Given the description of an element on the screen output the (x, y) to click on. 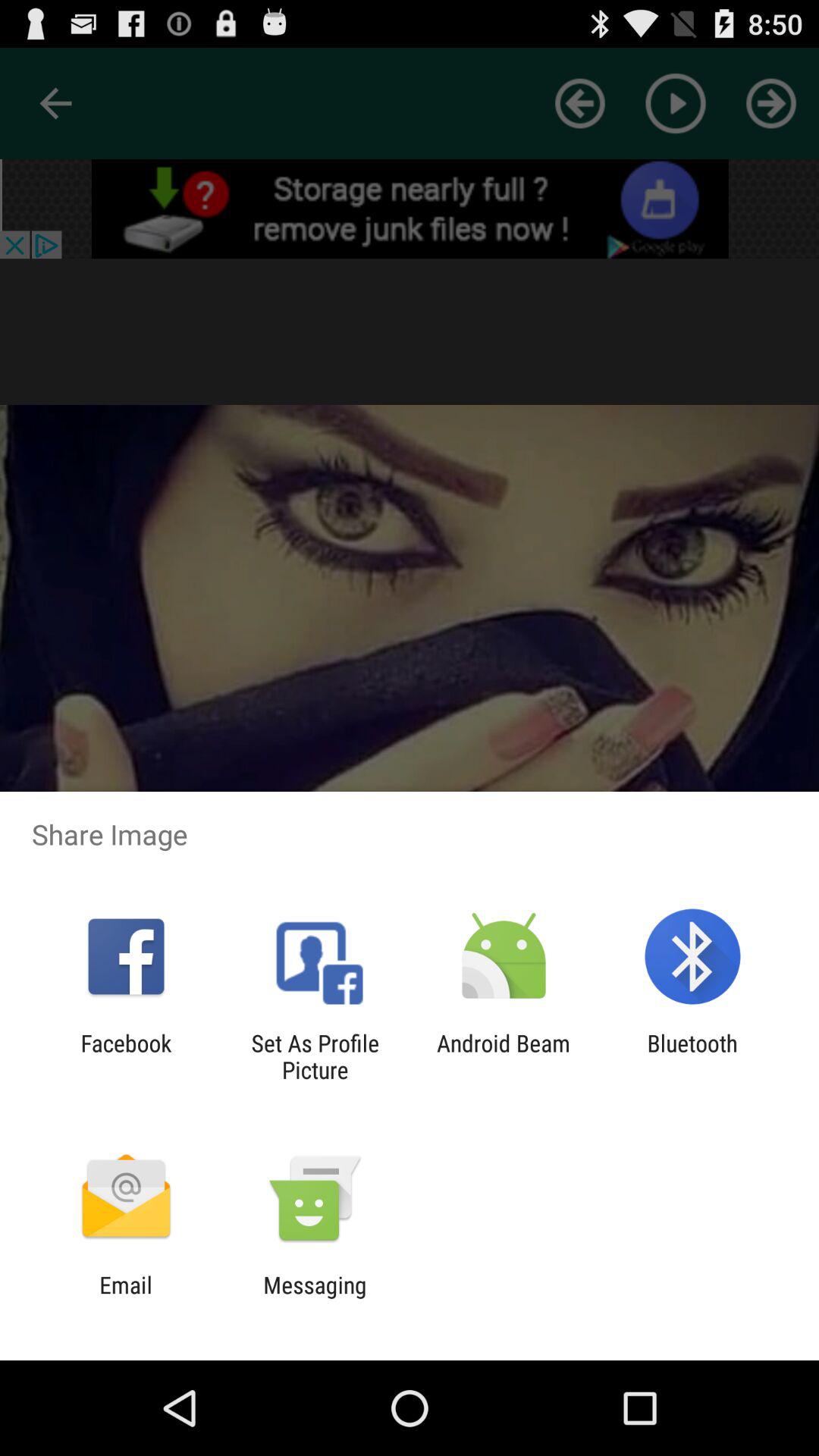
turn on the app next to the set as profile (125, 1056)
